Given the description of an element on the screen output the (x, y) to click on. 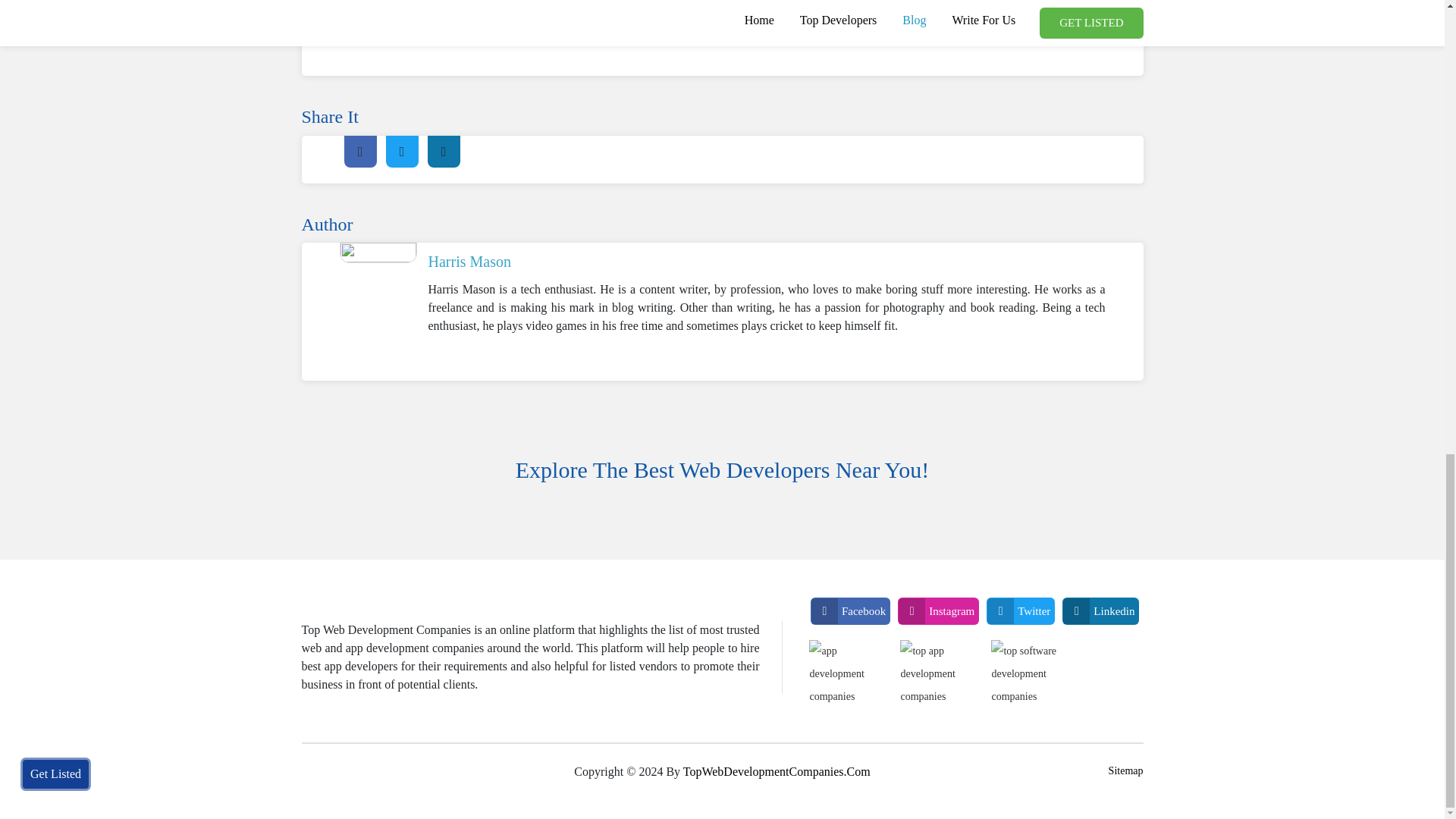
Twitter (1020, 610)
App Development Companies (850, 681)
Linkedin (1100, 610)
Instagram (938, 610)
Facebook (849, 610)
Top Software Development Companies (1032, 681)
Top App Development Companies (941, 681)
